Given the description of an element on the screen output the (x, y) to click on. 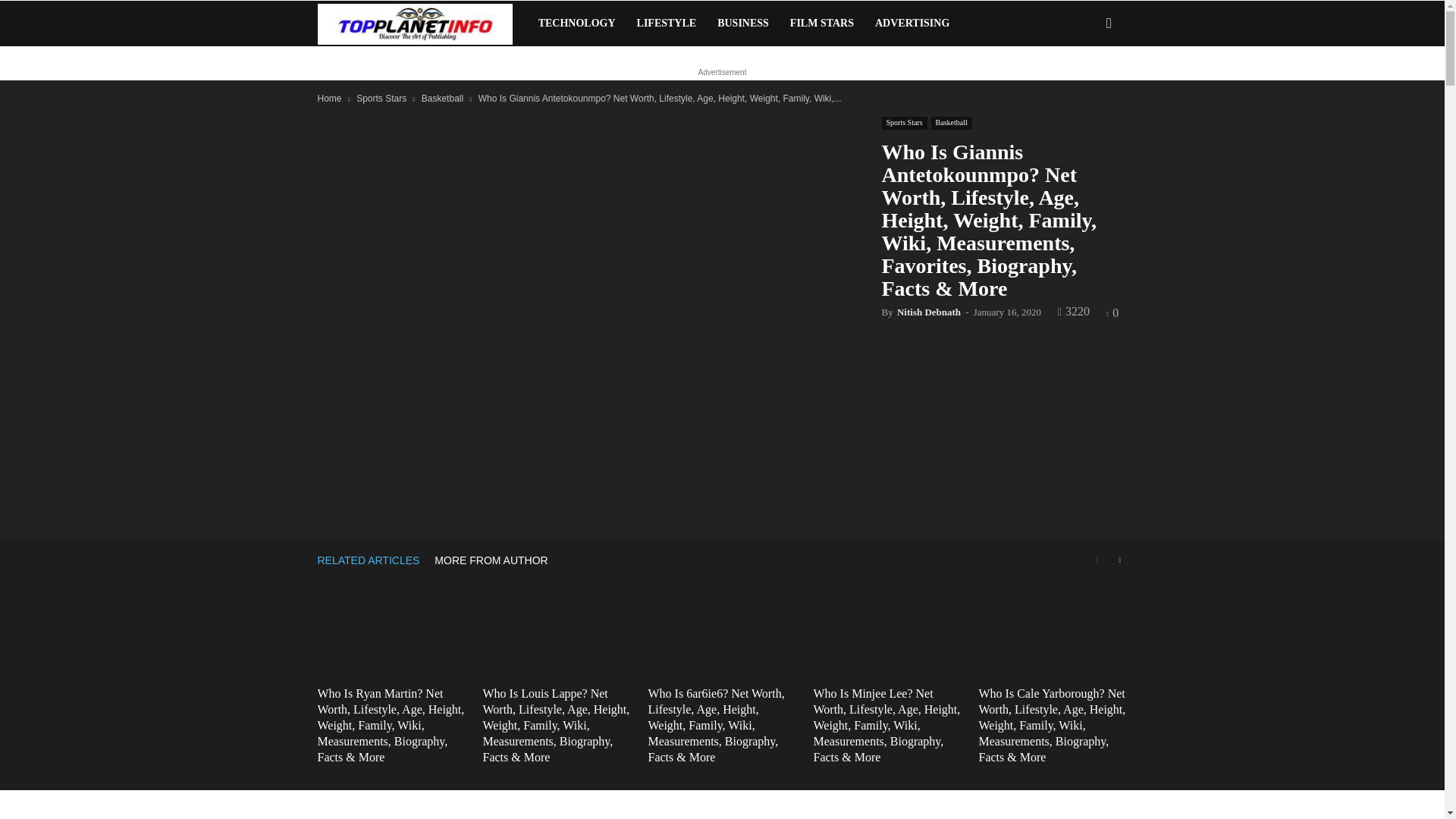
LIFESTYLE (666, 22)
TECHNOLOGY (576, 22)
